Given the description of an element on the screen output the (x, y) to click on. 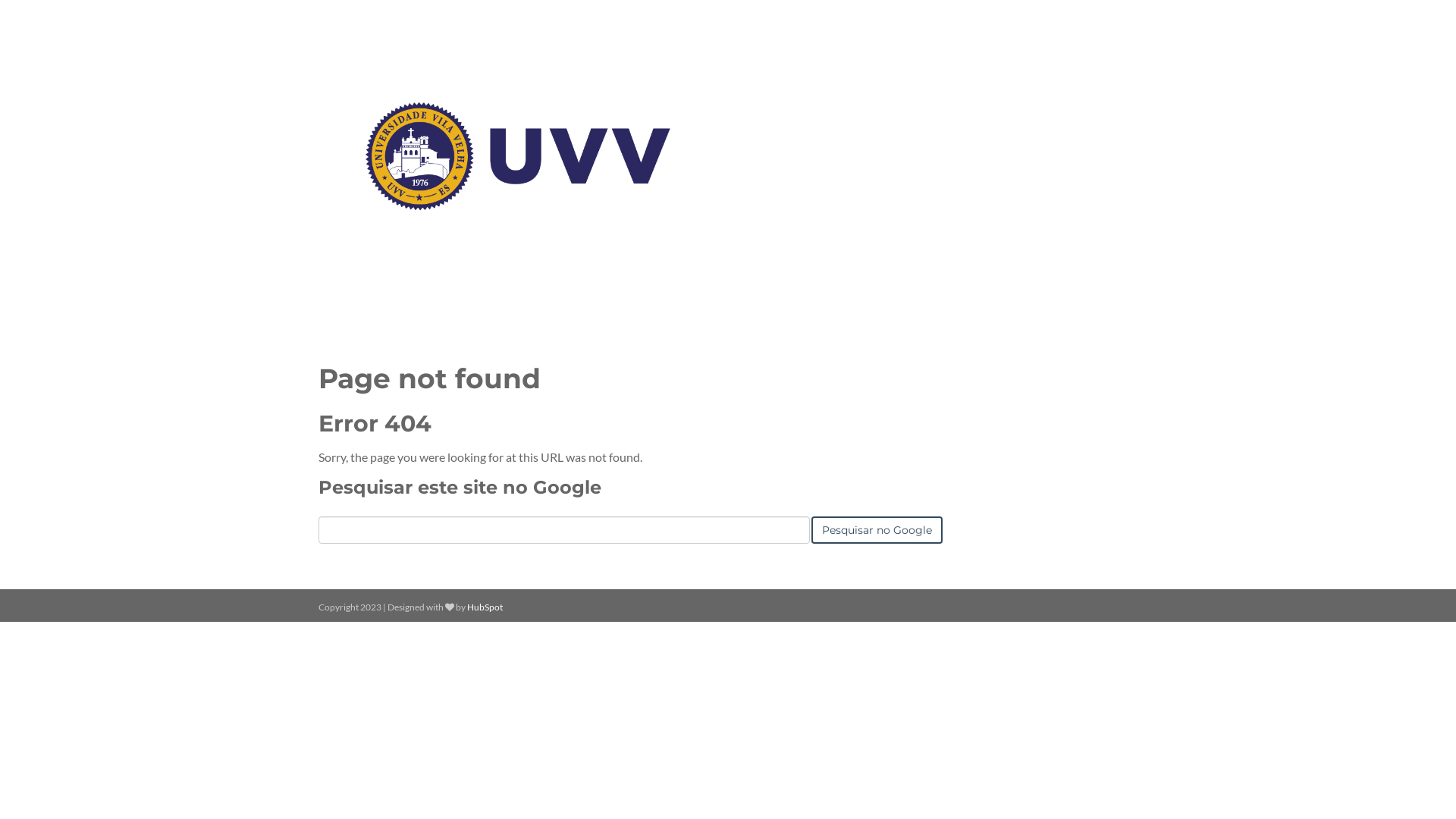
Pesquisar no Google Element type: text (876, 529)
HubSpot Element type: text (484, 606)
uvv-logo Element type: hover (517, 156)
